Given the description of an element on the screen output the (x, y) to click on. 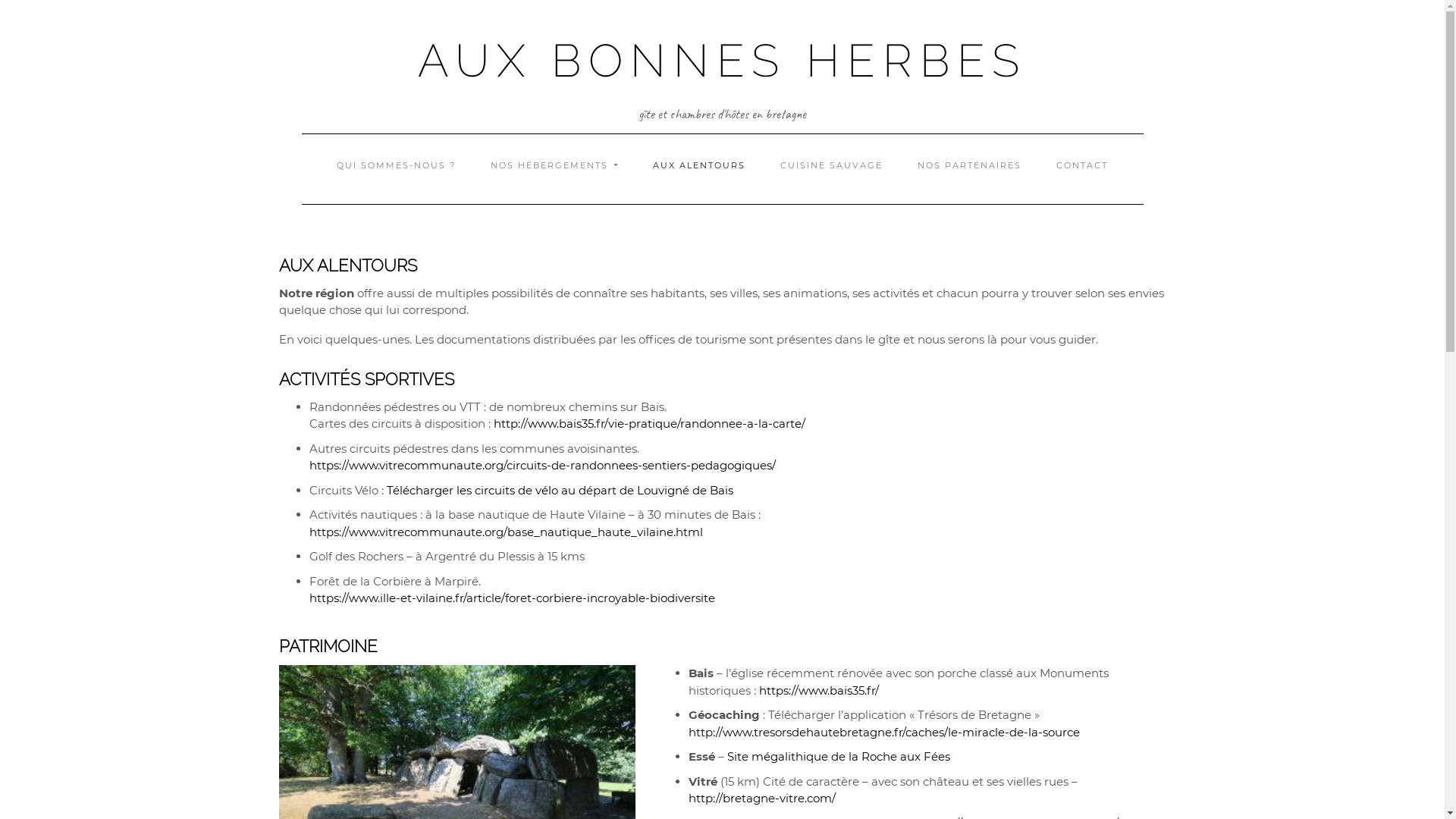
AUX BONNES HERBES Element type: text (721, 60)
https://www.bais35.fr/ Element type: text (818, 690)
CUISINE SAUVAGE
(CURRENT) Element type: text (831, 165)
NOS PARTENAIRES Element type: text (969, 165)
CONTACT Element type: text (1081, 165)
http://www.bais35.fr/vie-pratique/randonnee-a-la-carte/ Element type: text (648, 423)
http://bretagne-vitre.com/ Element type: text (761, 797)
QUI SOMMES-NOUS ?
(CURRENT) Element type: text (396, 165)
AUX ALENTOURS Element type: text (698, 165)
